Given the description of an element on the screen output the (x, y) to click on. 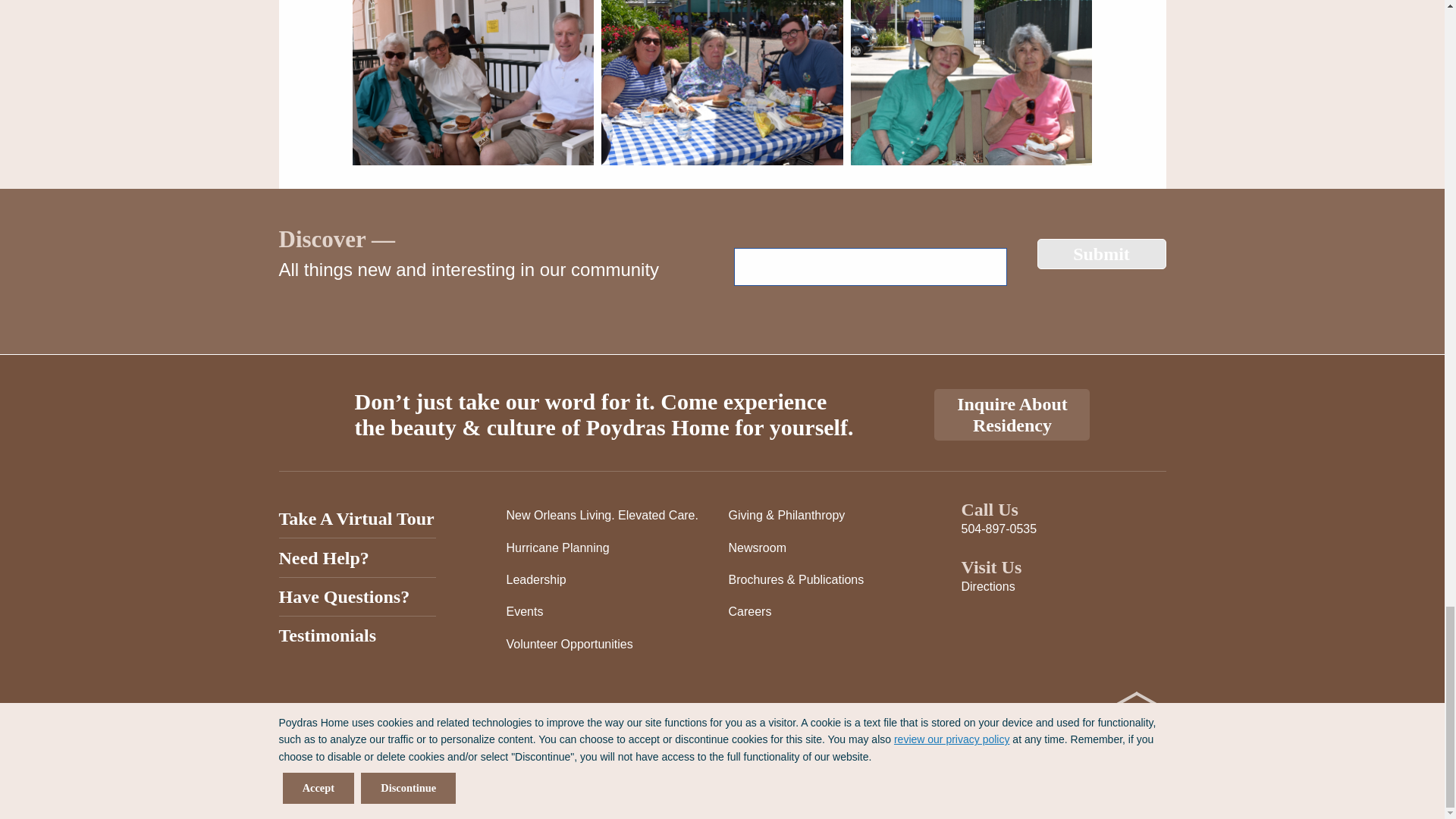
Submit (1101, 254)
Equal Housing Opportunity (1136, 717)
